Given the description of an element on the screen output the (x, y) to click on. 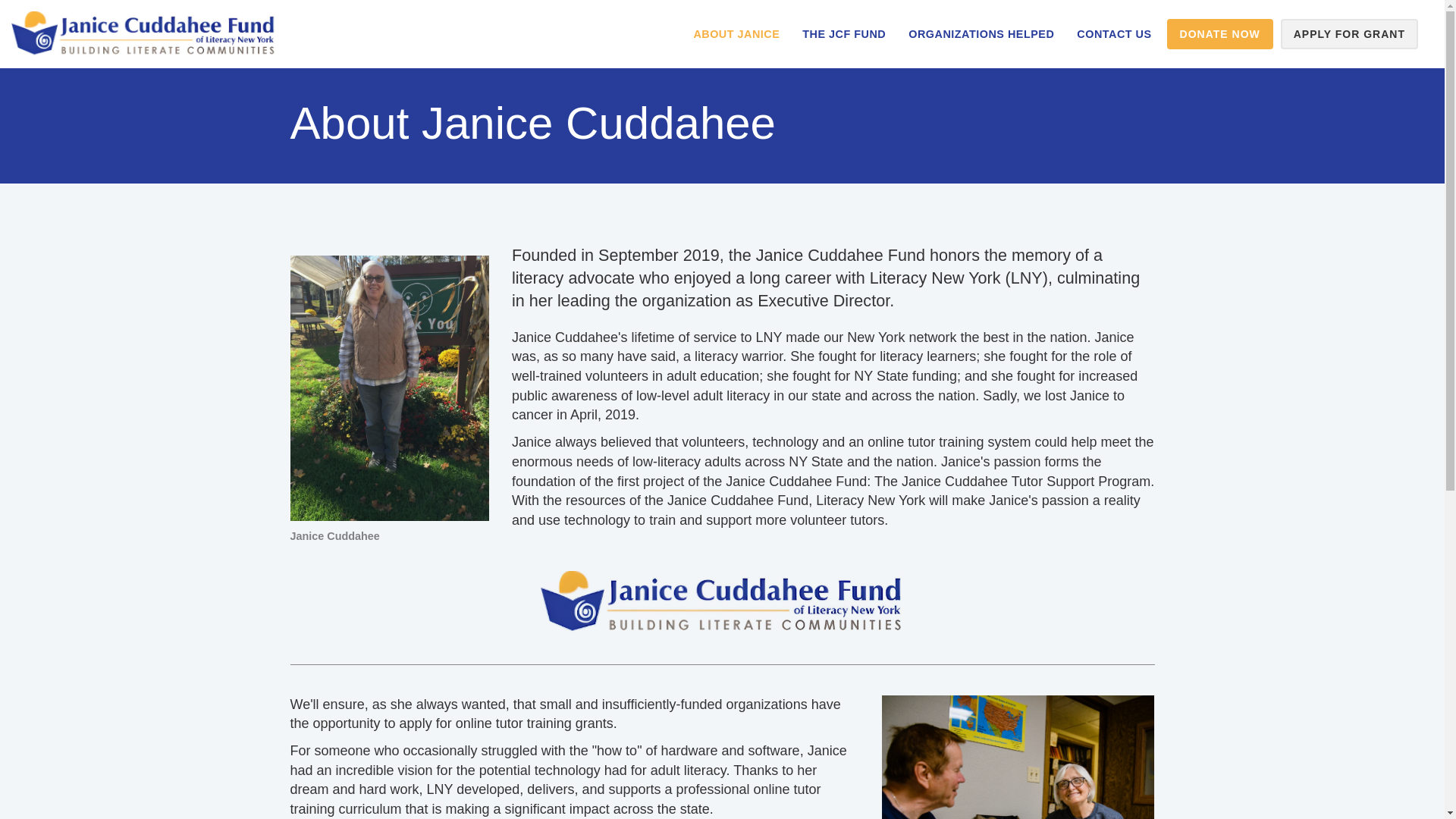
ORGANIZATIONS HELPED (980, 33)
THE JCF FUND (843, 33)
DONATE NOW (1220, 33)
Janice Cuddahee Fund (144, 33)
APPLY FOR GRANT (1349, 33)
ABOUT JANICE (735, 33)
CONTACT US (1113, 33)
